Given the description of an element on the screen output the (x, y) to click on. 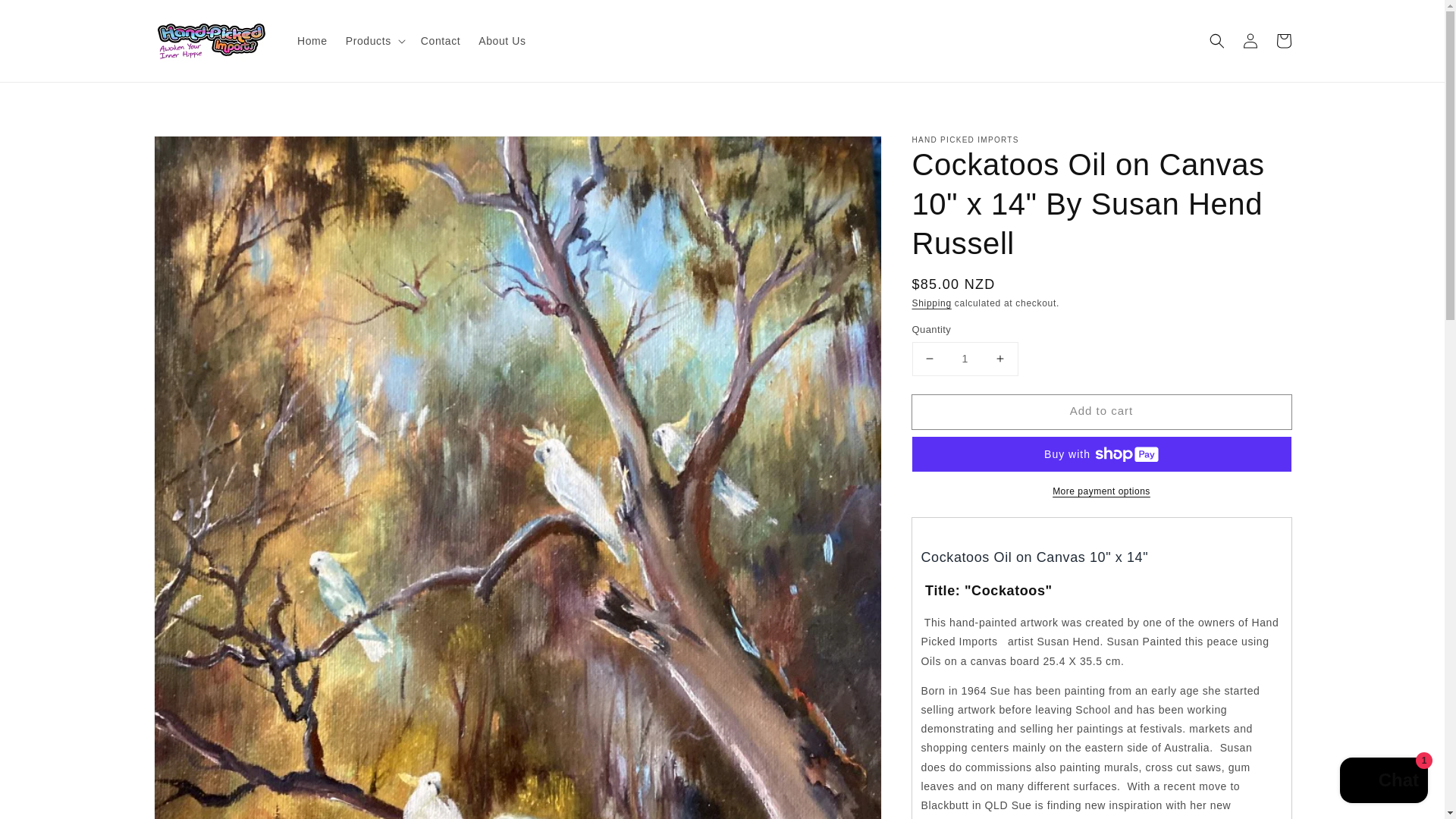
Home (312, 40)
Skip to content (45, 16)
1 (964, 359)
Shopify online store chat (1383, 781)
